Given the description of an element on the screen output the (x, y) to click on. 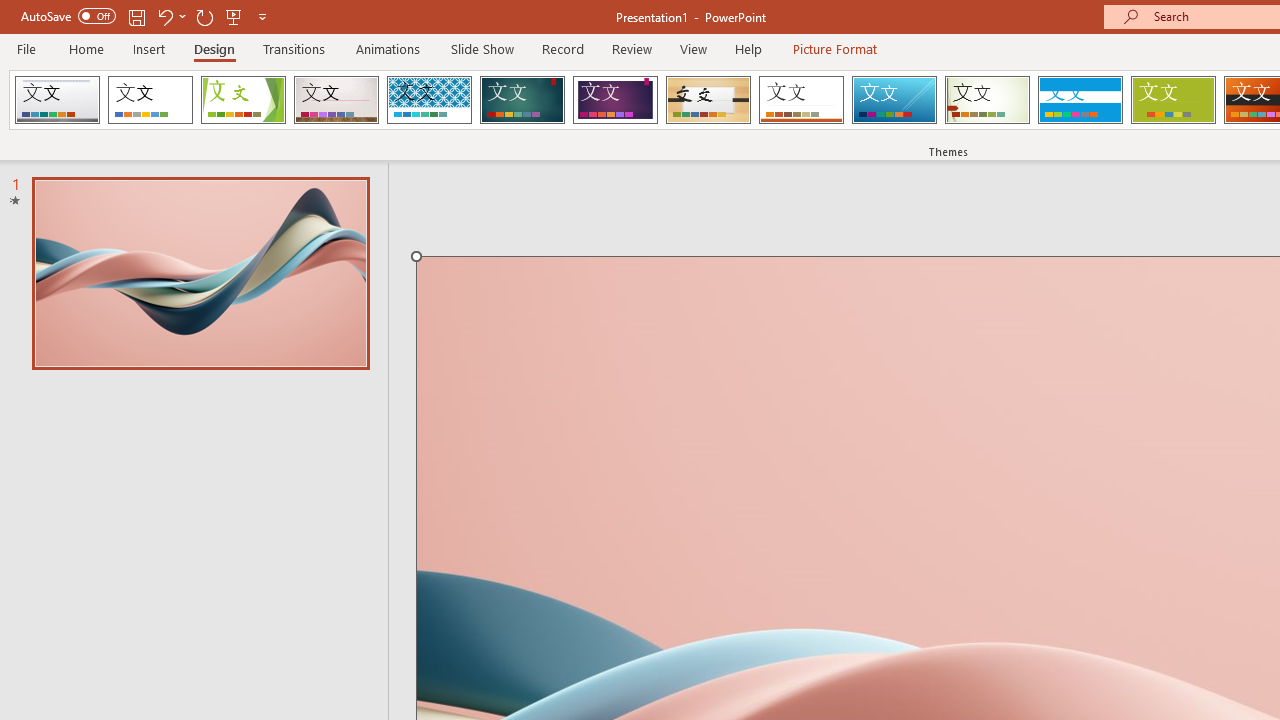
Facet (243, 100)
Banded (1080, 100)
Office Theme (150, 100)
